Given the description of an element on the screen output the (x, y) to click on. 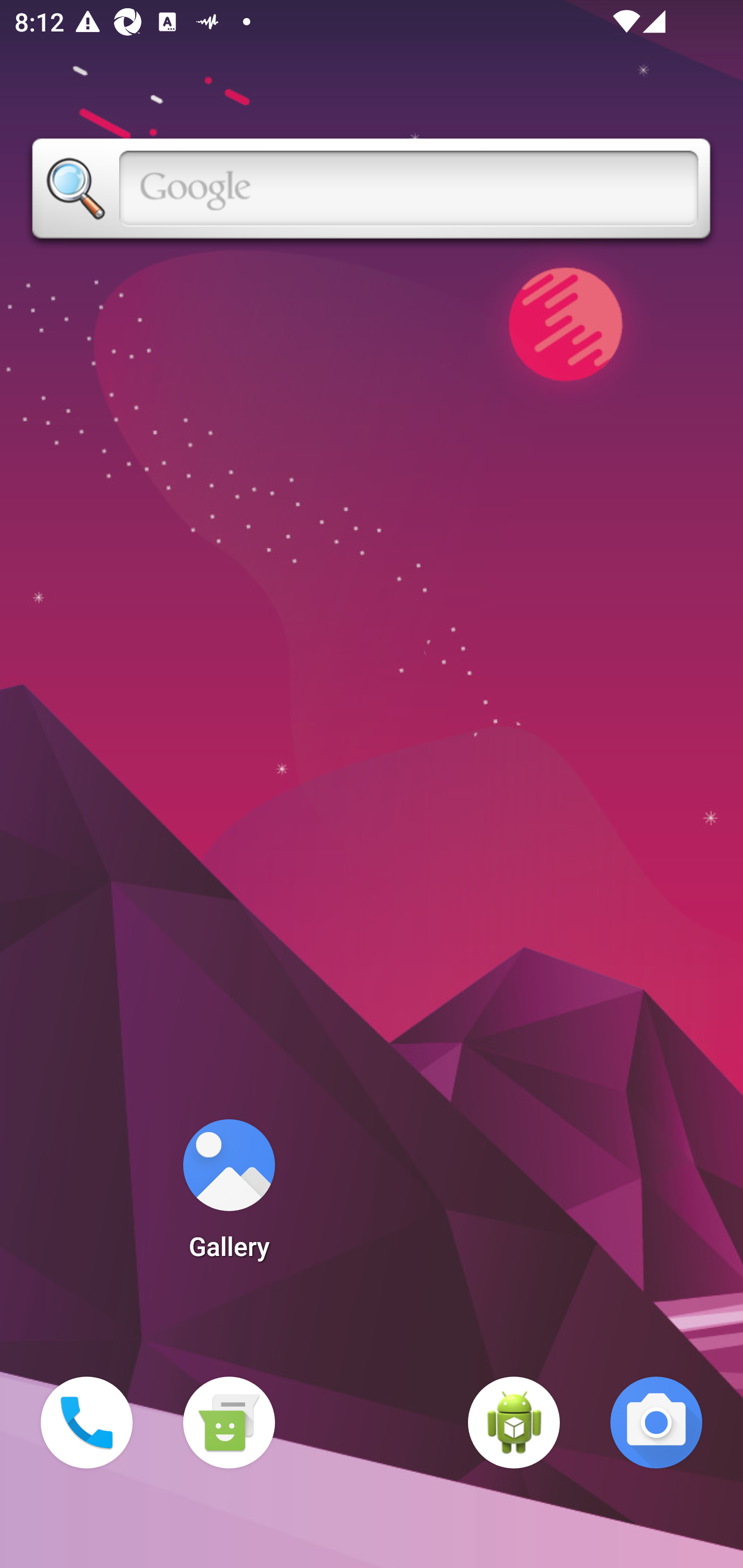
Gallery (228, 1195)
Phone (86, 1422)
Messaging (228, 1422)
WebView Browser Tester (513, 1422)
Camera (656, 1422)
